Given the description of an element on the screen output the (x, y) to click on. 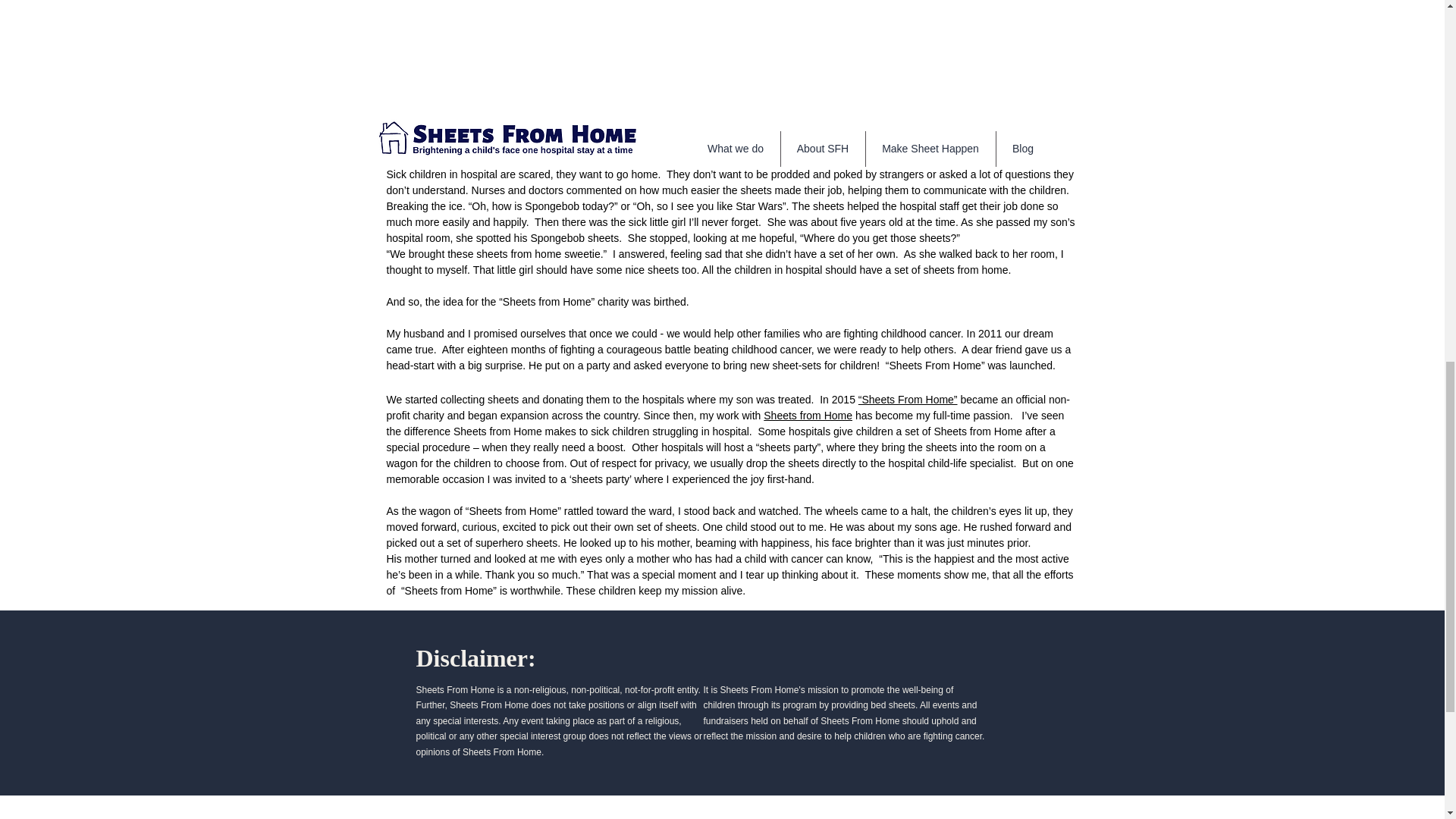
Sheets from Home (806, 415)
